Given the description of an element on the screen output the (x, y) to click on. 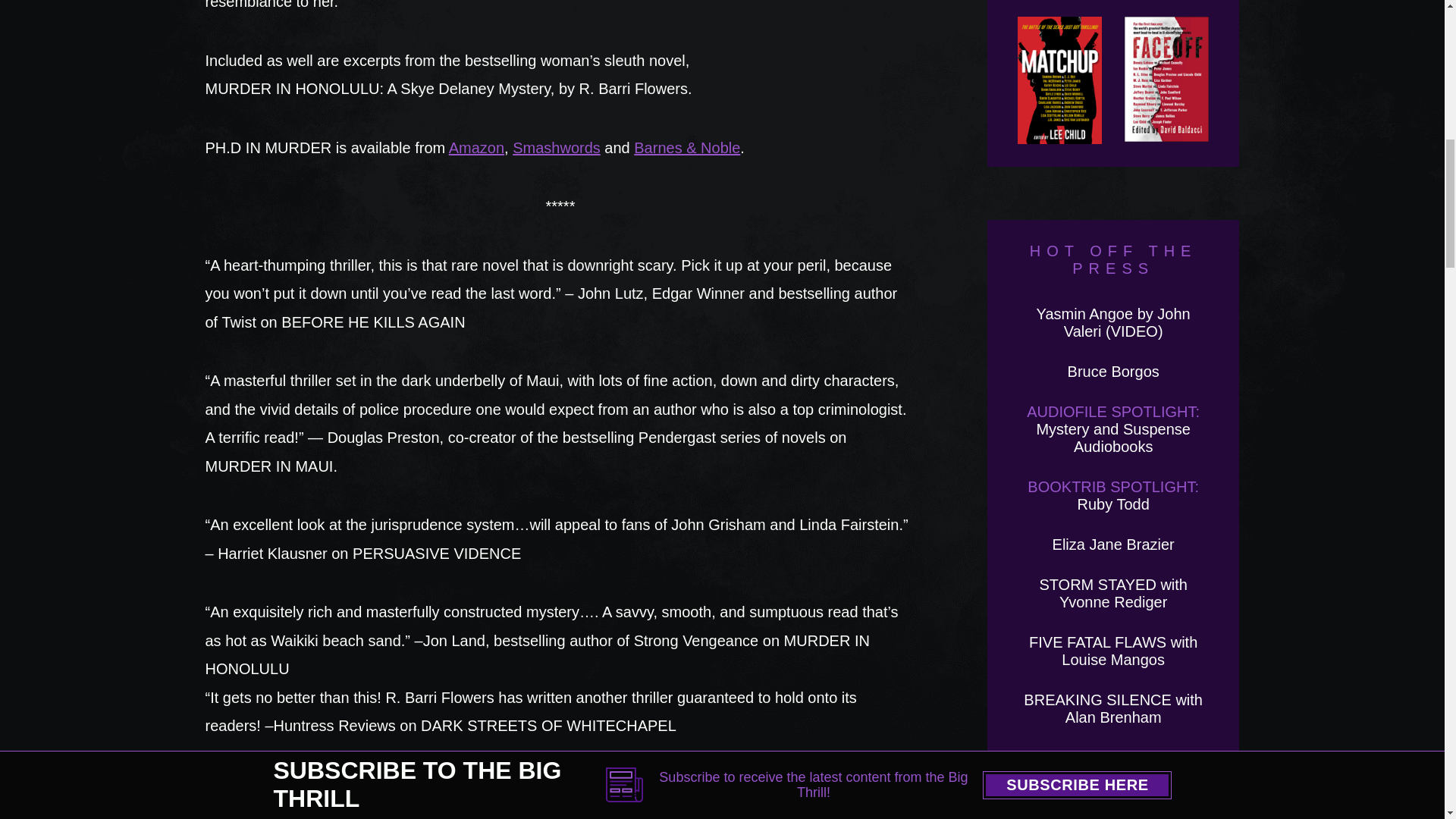
Eliza Jane Brazier (1113, 544)
AudioFile Spotlight: Mystery and Suspense Audiobooks (1112, 429)
Bruce Borgos (1112, 371)
Booktrib Spotlight: Ruby Todd (1112, 495)
FIVE FATAL FLAWS with Louise Mangos (1112, 650)
May Cobb (1113, 757)
STORM STAYED with Yvonne Rediger (1113, 593)
BREAKING SILENCE with Alan Brenham (1112, 708)
